Given the description of an element on the screen output the (x, y) to click on. 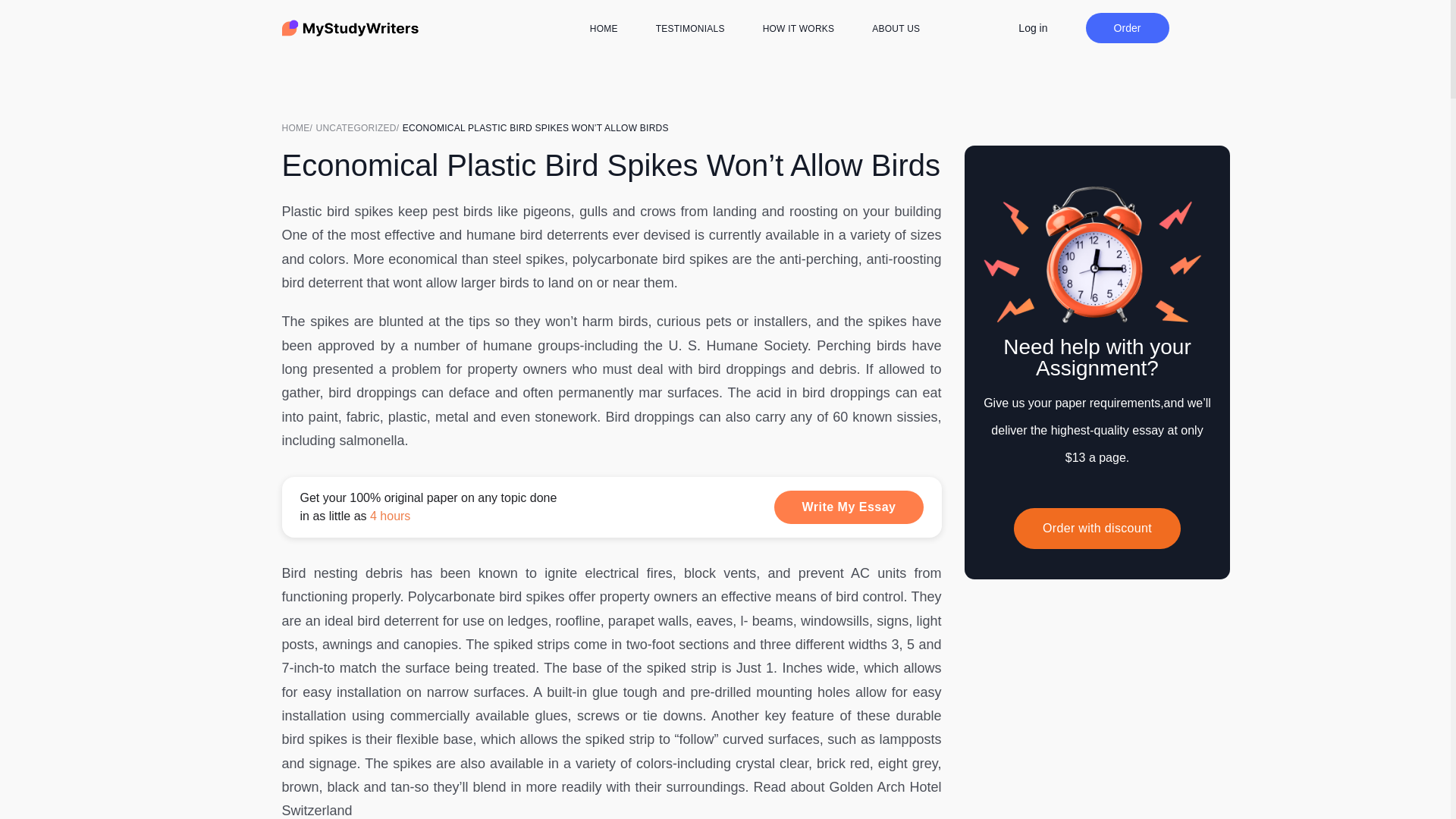
ABOUT US (896, 28)
TESTIMONIALS (690, 28)
Order with discount (1096, 527)
Go to MyStudyWriters (298, 126)
Order (1127, 28)
HOME (603, 28)
HOW IT WORKS (798, 28)
Log in (1031, 27)
HOME (298, 126)
Learn More (612, 506)
